Given the description of an element on the screen output the (x, y) to click on. 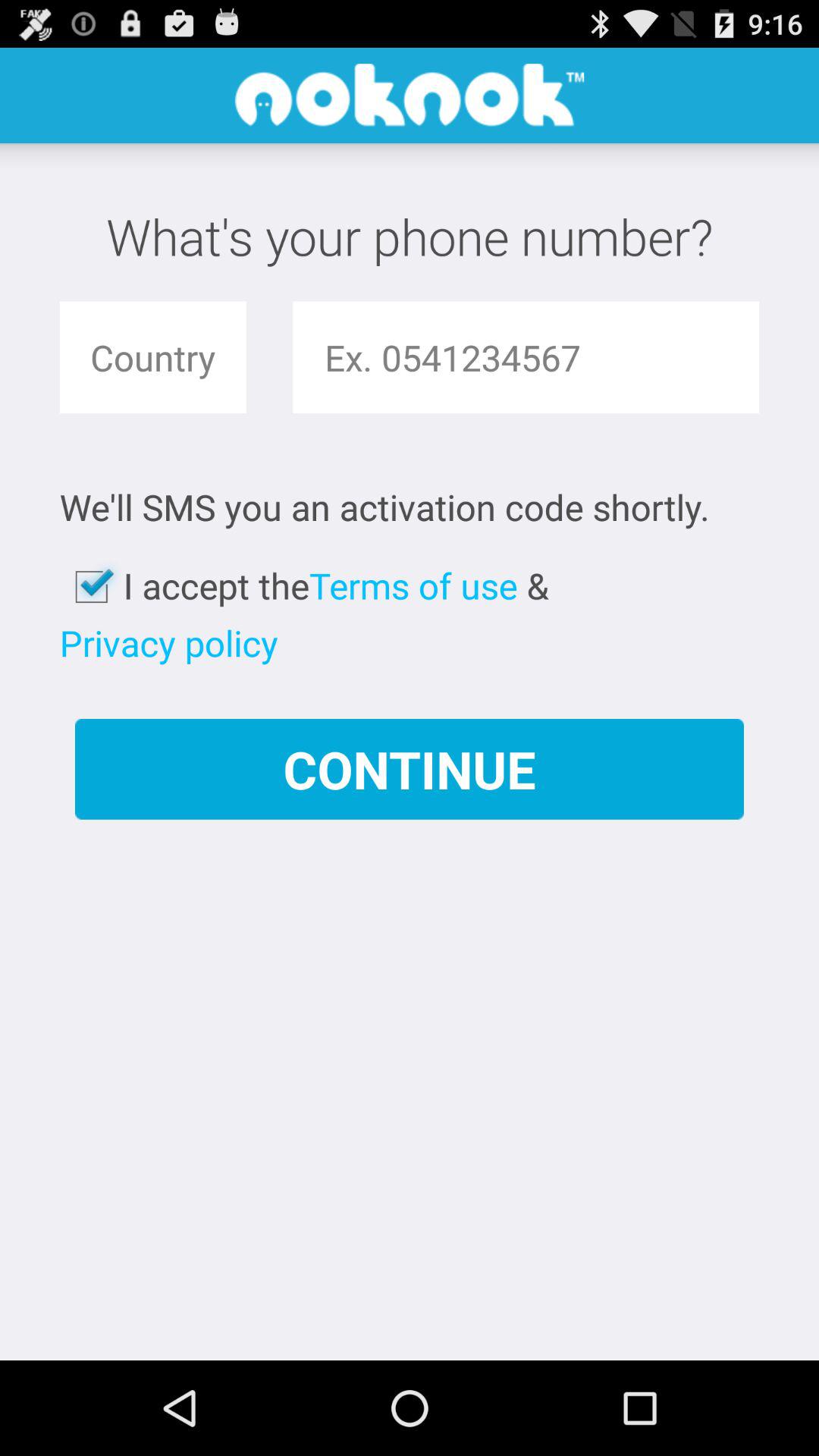
select the app below the we ll sms (91, 586)
